Given the description of an element on the screen output the (x, y) to click on. 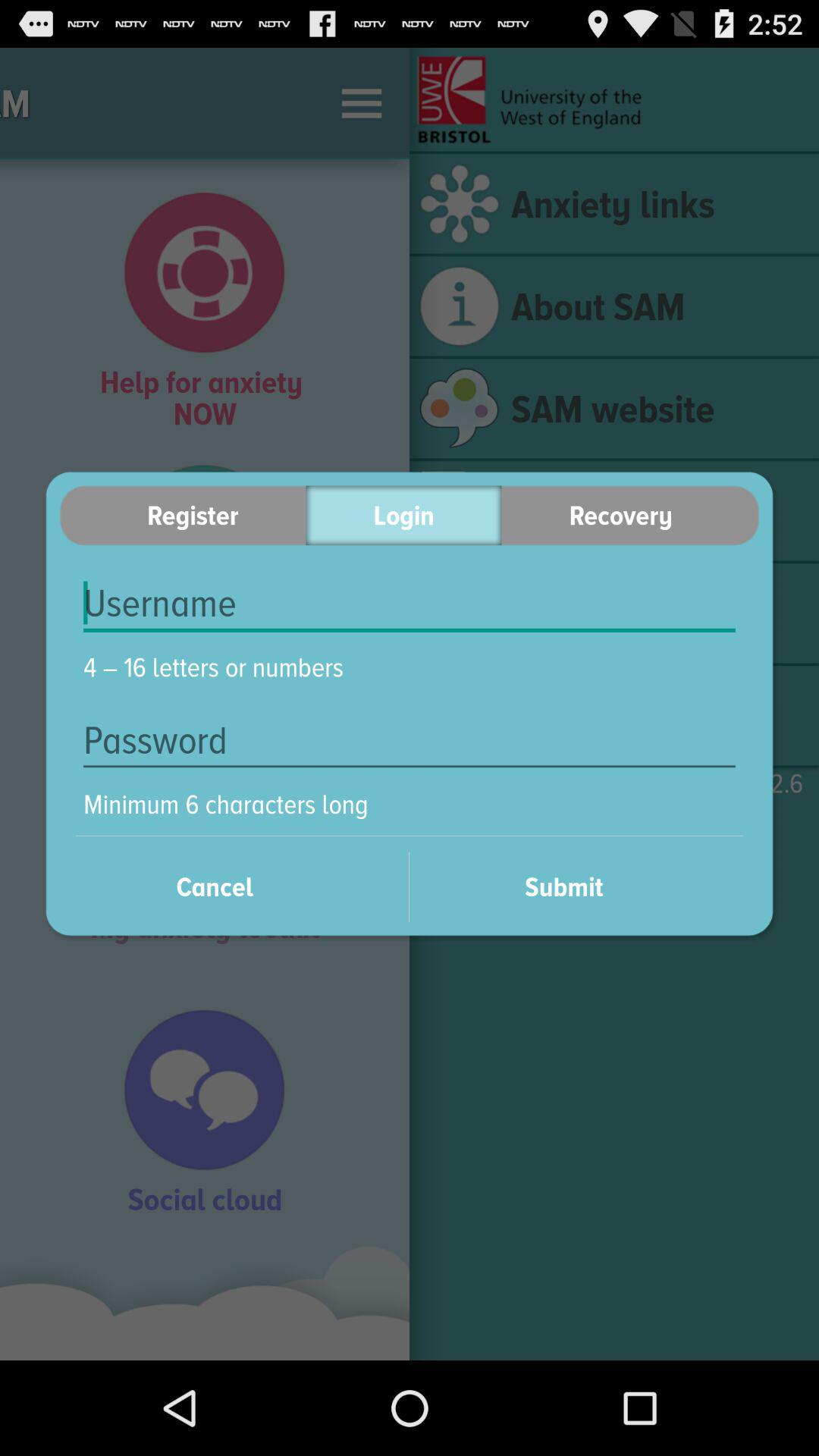
flip until login item (403, 515)
